Given the description of an element on the screen output the (x, y) to click on. 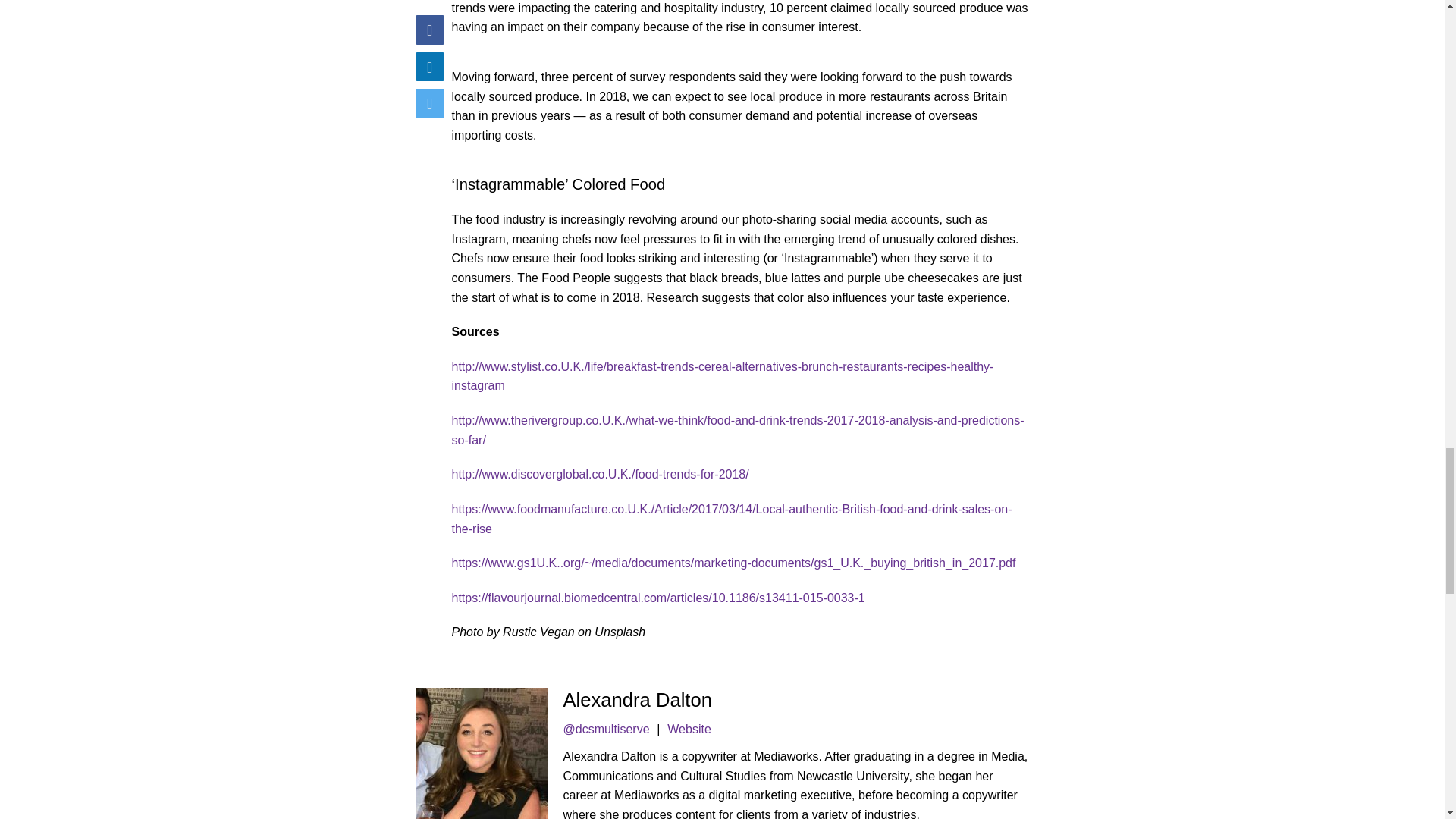
Follow on Twitter (607, 728)
Follow on Website (688, 728)
Website (688, 728)
